Given the description of an element on the screen output the (x, y) to click on. 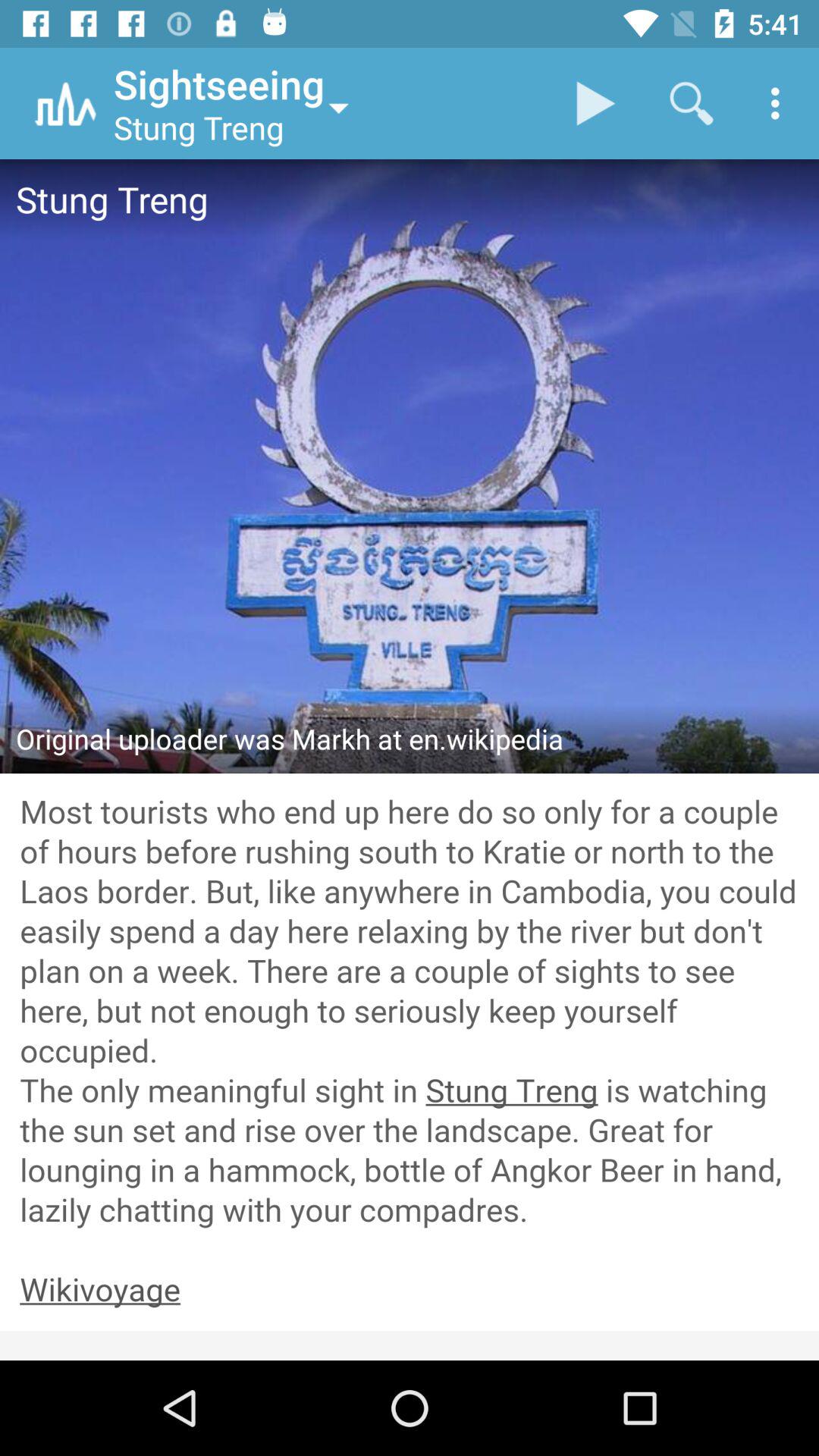
location description (409, 1012)
